Given the description of an element on the screen output the (x, y) to click on. 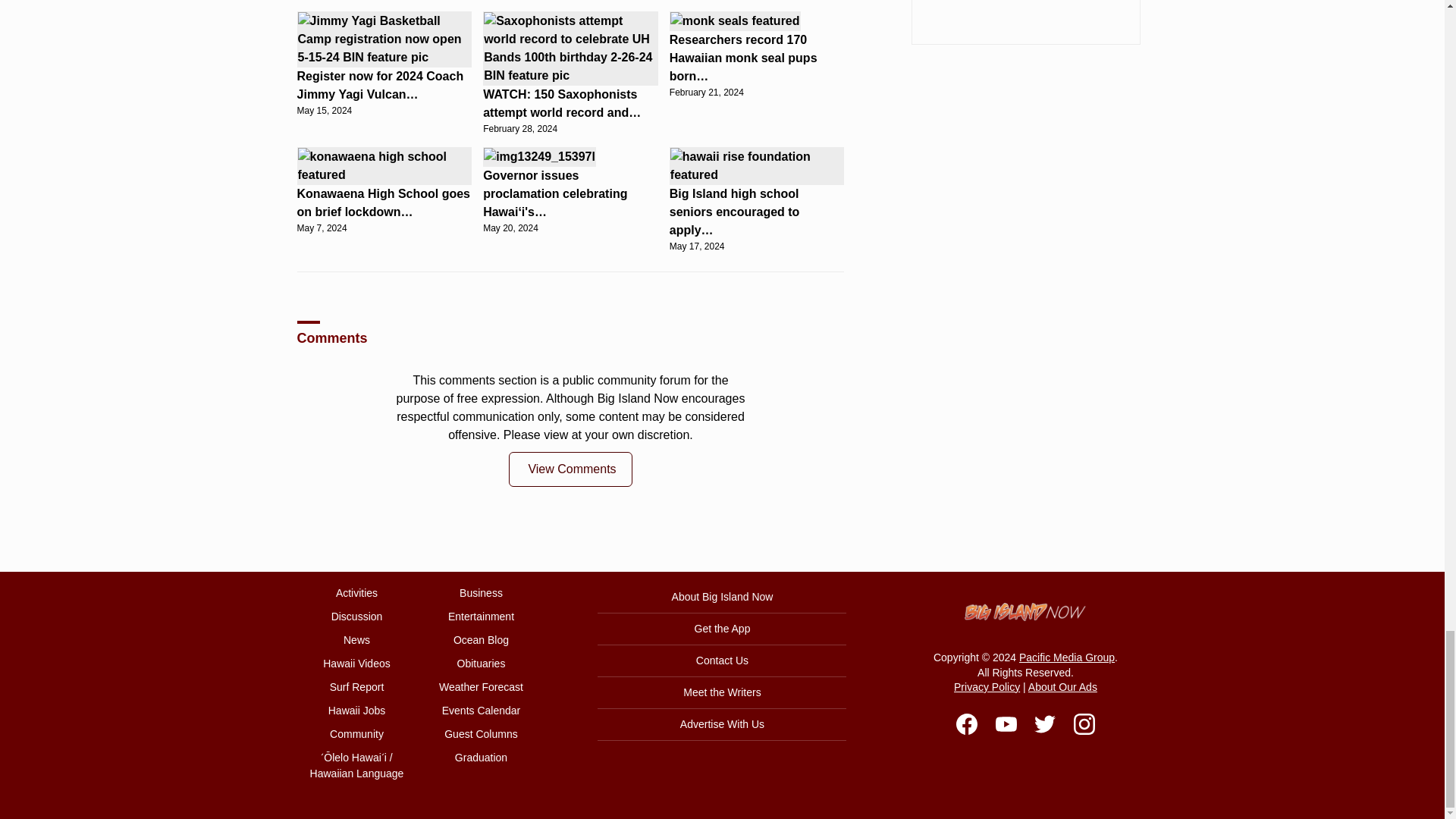
YouTube (1005, 723)
Instagram (1084, 723)
3rd party ad content (1025, 22)
Twitter (1044, 723)
Facebook (966, 723)
